Given the description of an element on the screen output the (x, y) to click on. 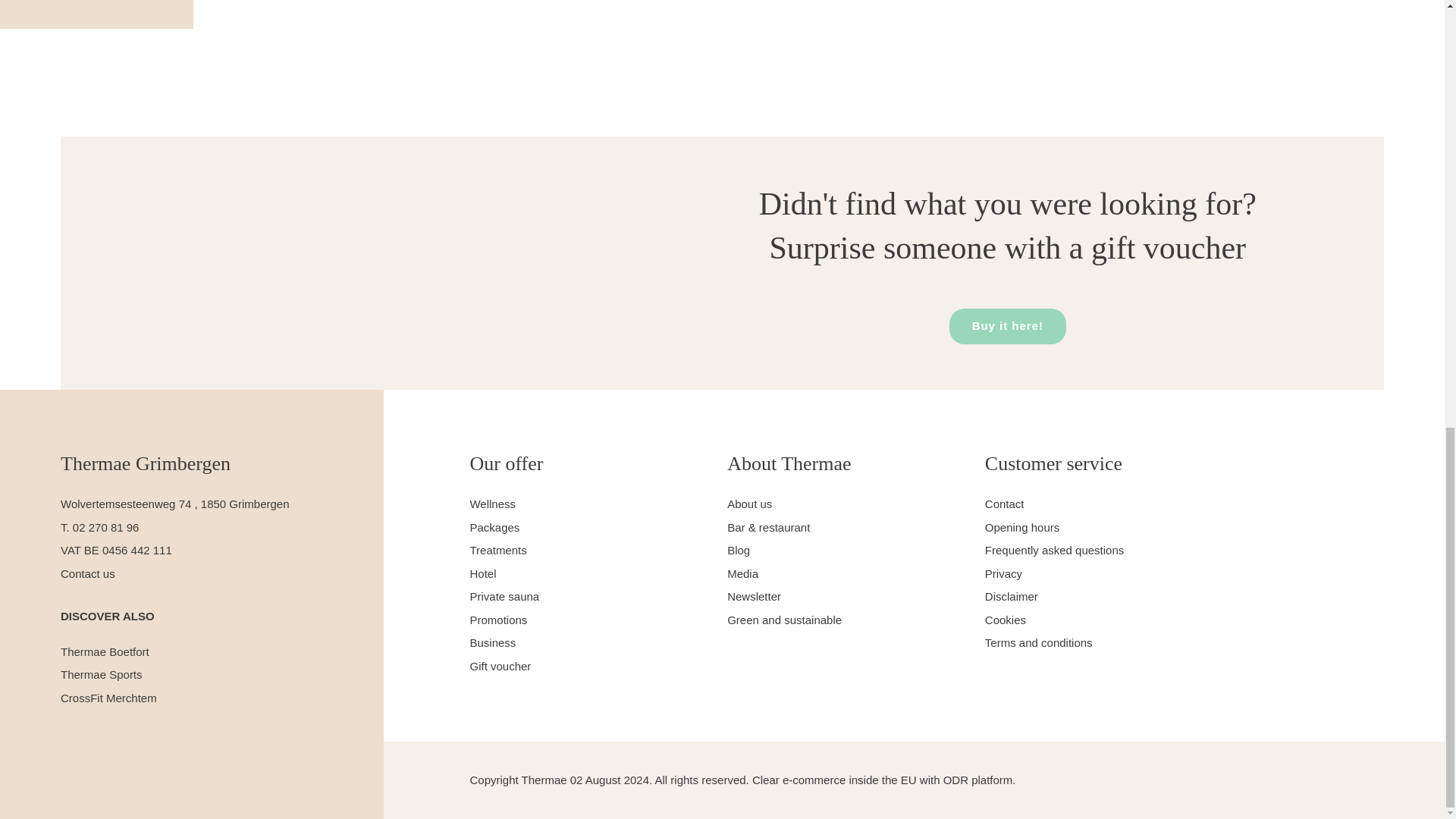
Webatvantage (1173, 779)
